Given the description of an element on the screen output the (x, y) to click on. 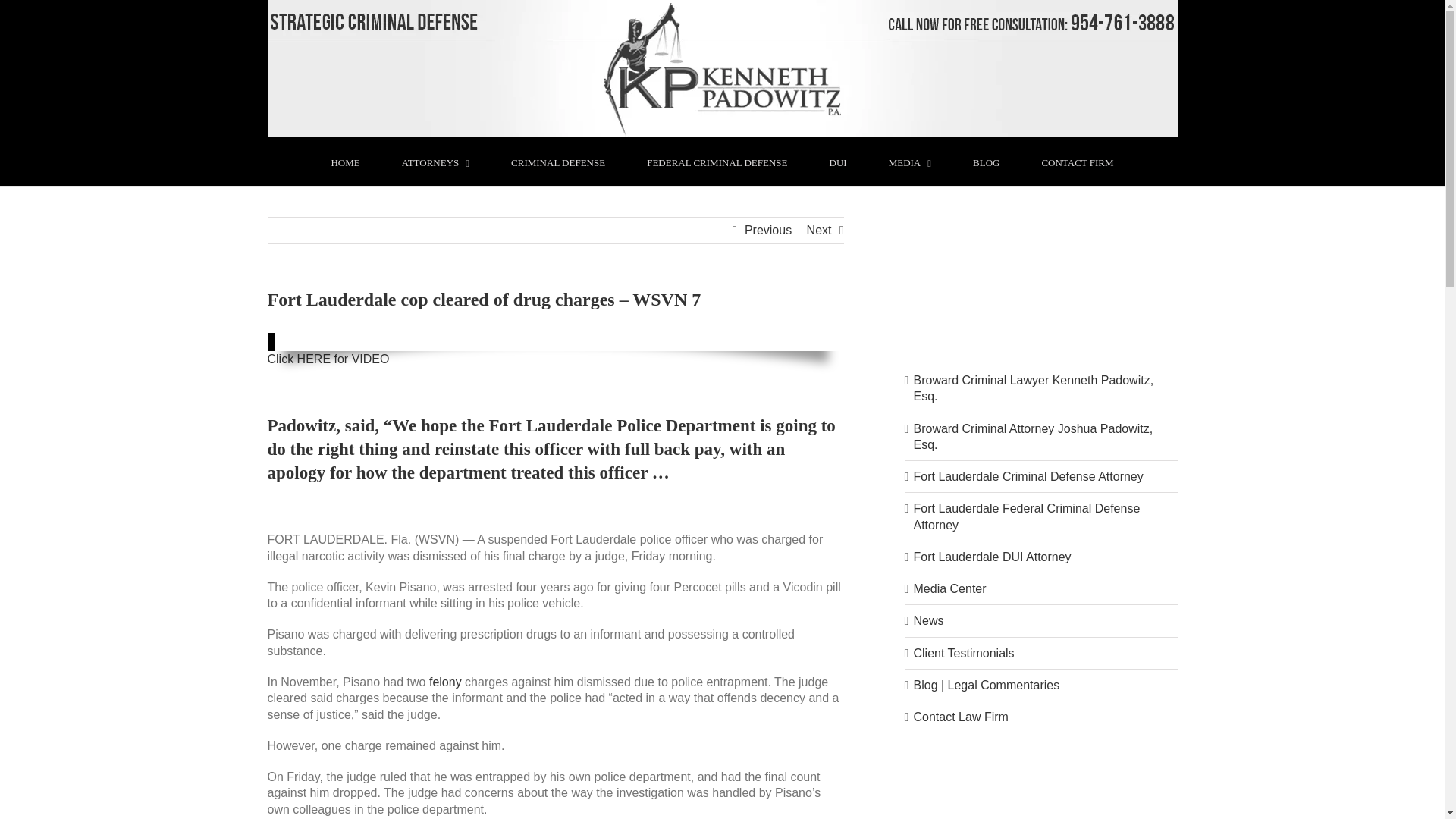
CRIMINAL DEFENSE (558, 161)
felony (445, 681)
FEDERAL CRIMINAL DEFENSE (716, 161)
Previous (768, 230)
Click HERE for VIDEO (327, 358)
CONTACT FIRM (1077, 161)
Next (818, 230)
ATTORNEYS (434, 161)
